Given the description of an element on the screen output the (x, y) to click on. 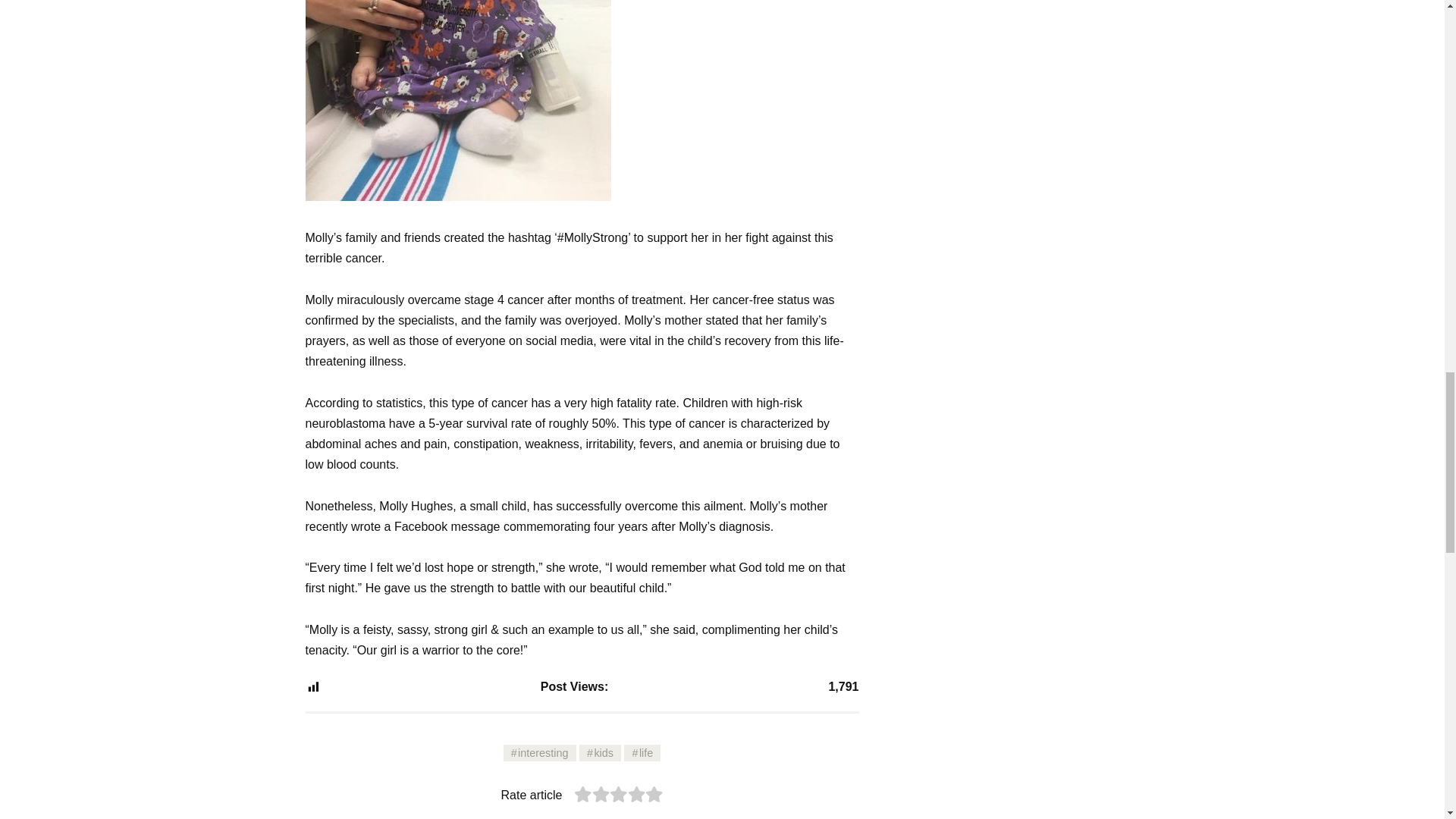
interesting (539, 752)
life (642, 752)
kids (600, 752)
